Given the description of an element on the screen output the (x, y) to click on. 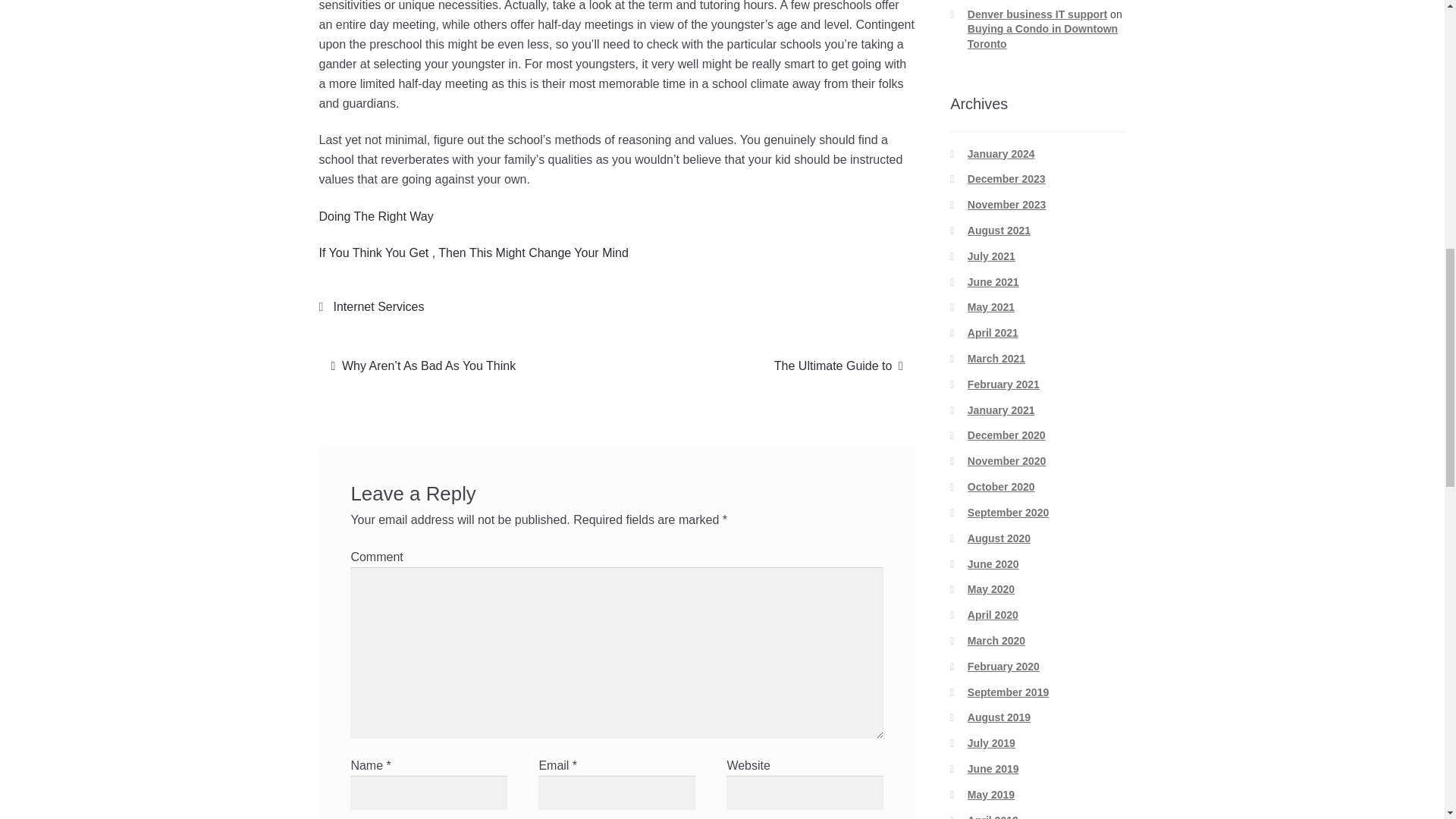
If You Think You Get , Then This Might Change Your Mind (473, 252)
Denver business IT support (1037, 14)
Internet Services (378, 306)
Doing The Right Way (838, 366)
